Given the description of an element on the screen output the (x, y) to click on. 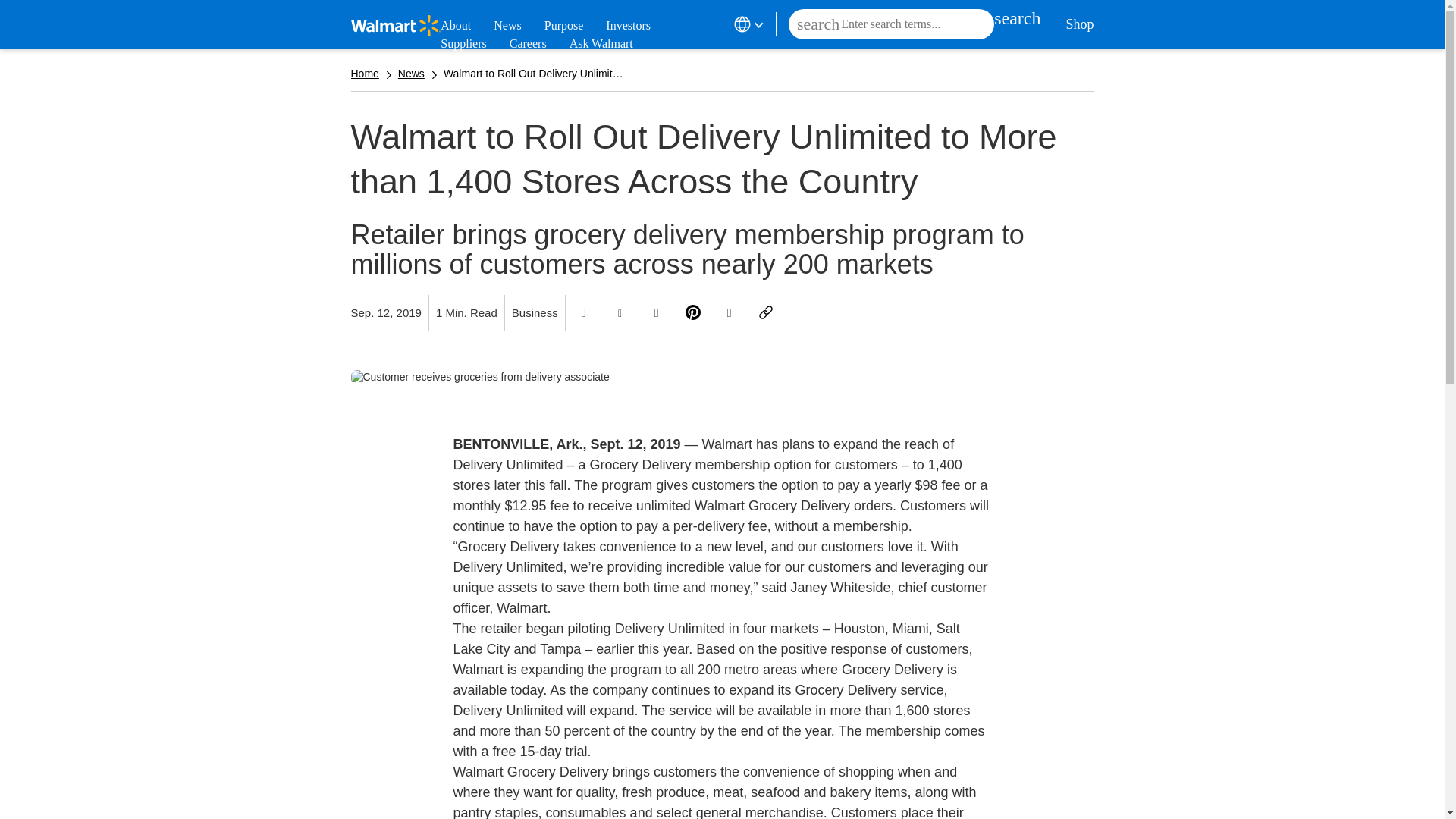
Investors (627, 25)
Share With Pinterest (692, 312)
News (507, 25)
Copy link to clipboard (765, 312)
About (455, 25)
Purpose (563, 25)
Suppliers (463, 44)
